Given the description of an element on the screen output the (x, y) to click on. 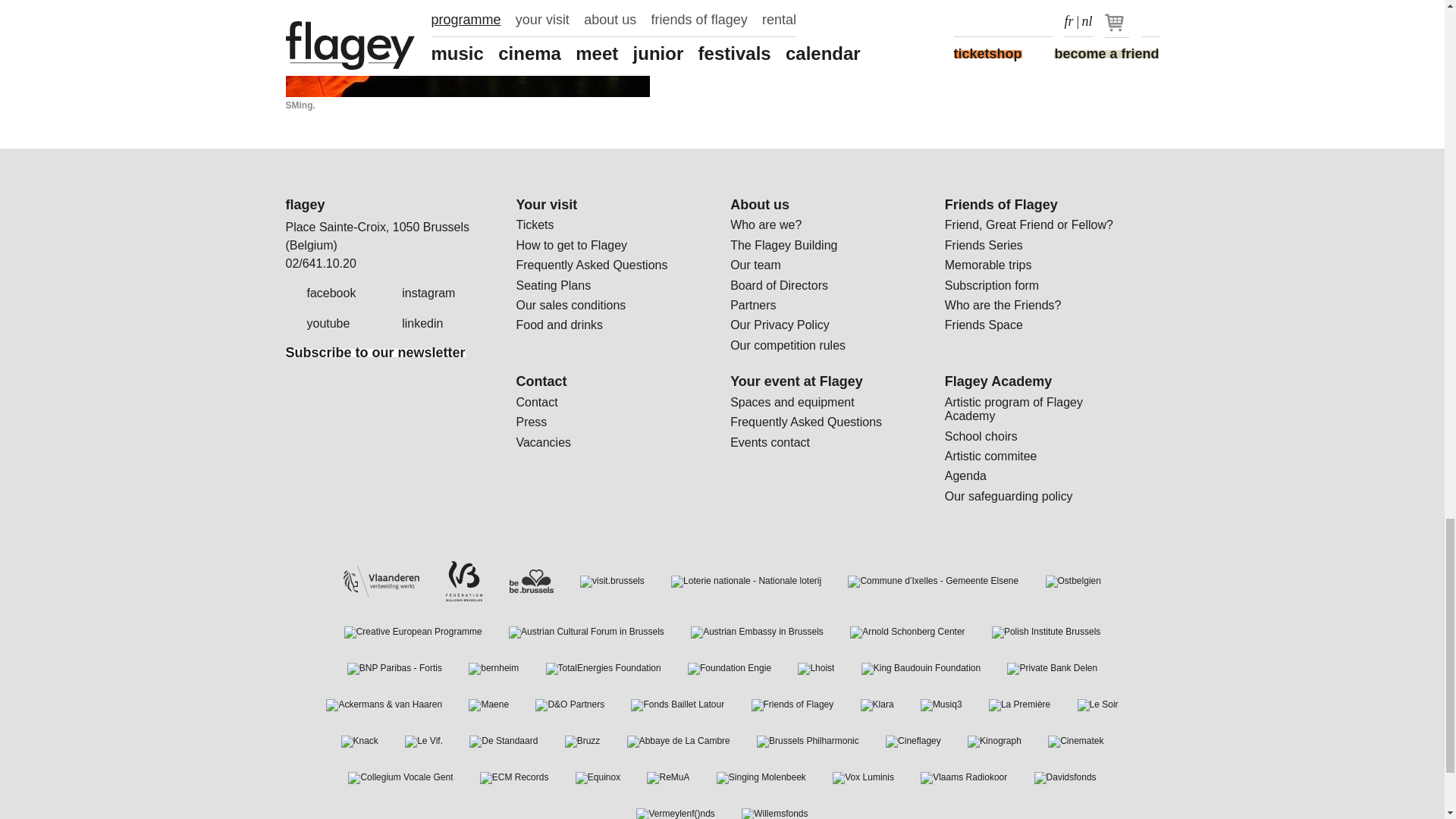
Brussels-Capital Region (531, 581)
Austrian Cultural Forum in Brussels (585, 632)
Creative European Programme (412, 632)
Loterie nationale - Nationale loterij (746, 581)
Ostbelgien (1072, 581)
Arnold Schonberg Center (906, 632)
Vlaanderen verbeelding werkt (381, 581)
BNP Paribas - Fortis (394, 668)
Polish Institute Brussels (1045, 632)
Austrian Embassy in Brussels (757, 632)
visit.brussels (612, 581)
bernheim (493, 668)
